Given the description of an element on the screen output the (x, y) to click on. 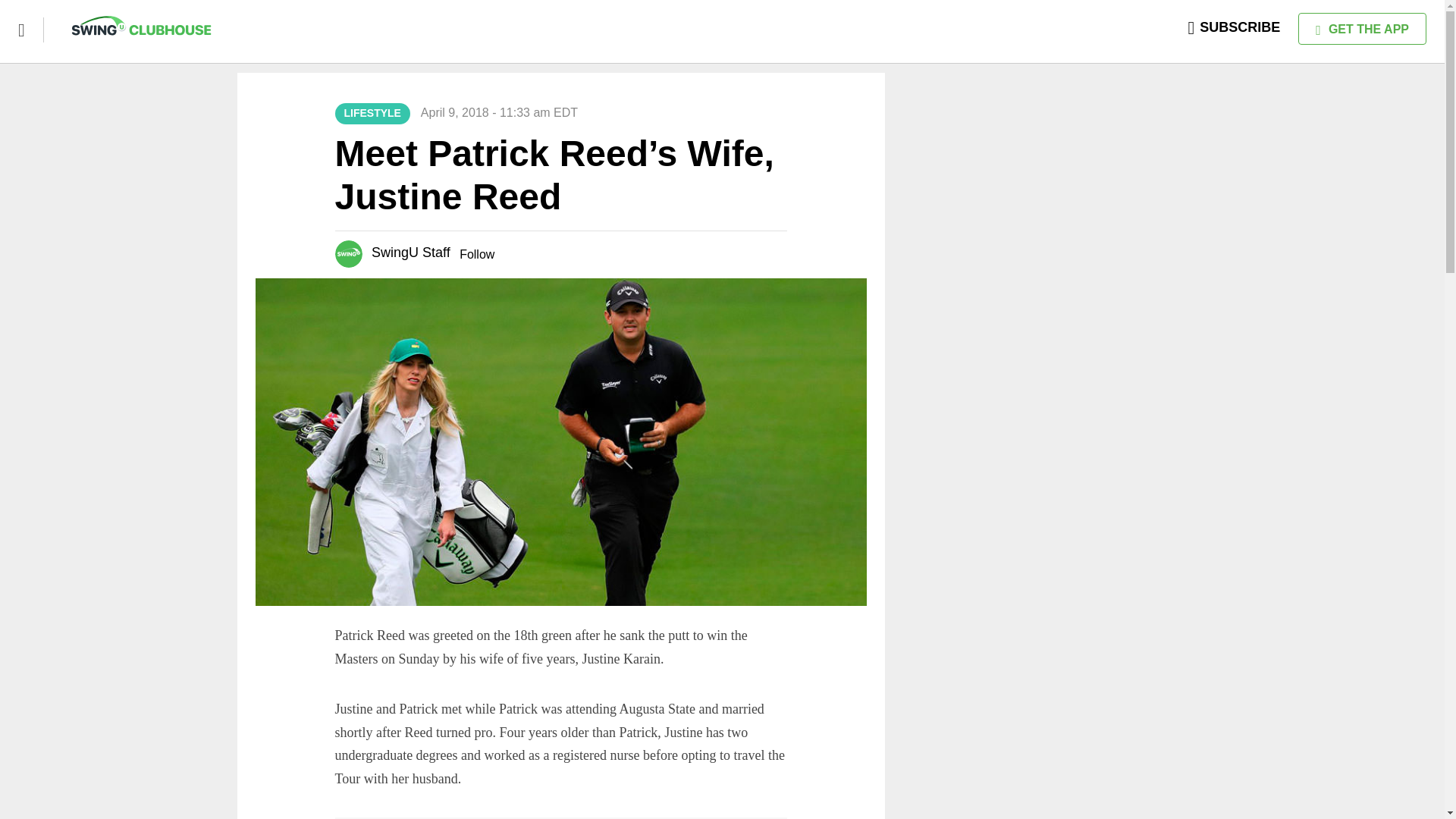
Follow (477, 254)
GET THE APP (1362, 29)
SUBSCRIBE (1234, 27)
SwingU Staff (410, 252)
